Given the description of an element on the screen output the (x, y) to click on. 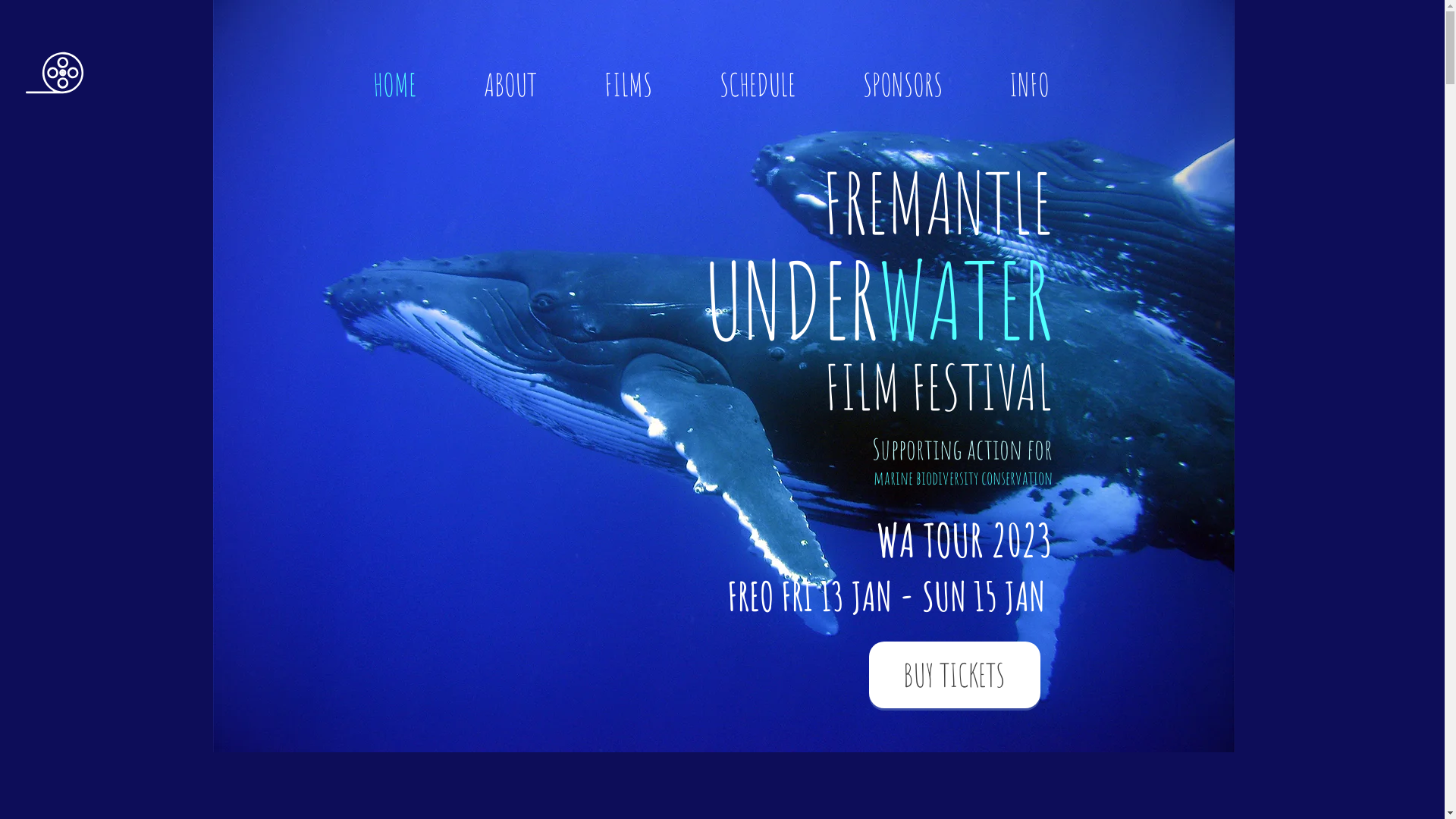
SPONSORS Element type: text (928, 81)
SCHEDULE Element type: text (782, 81)
FILMS Element type: text (653, 81)
BUY TICKETS Element type: text (954, 674)
HOME Element type: text (420, 81)
INFO Element type: text (1054, 81)
ABOUT Element type: text (536, 81)
